Given the description of an element on the screen output the (x, y) to click on. 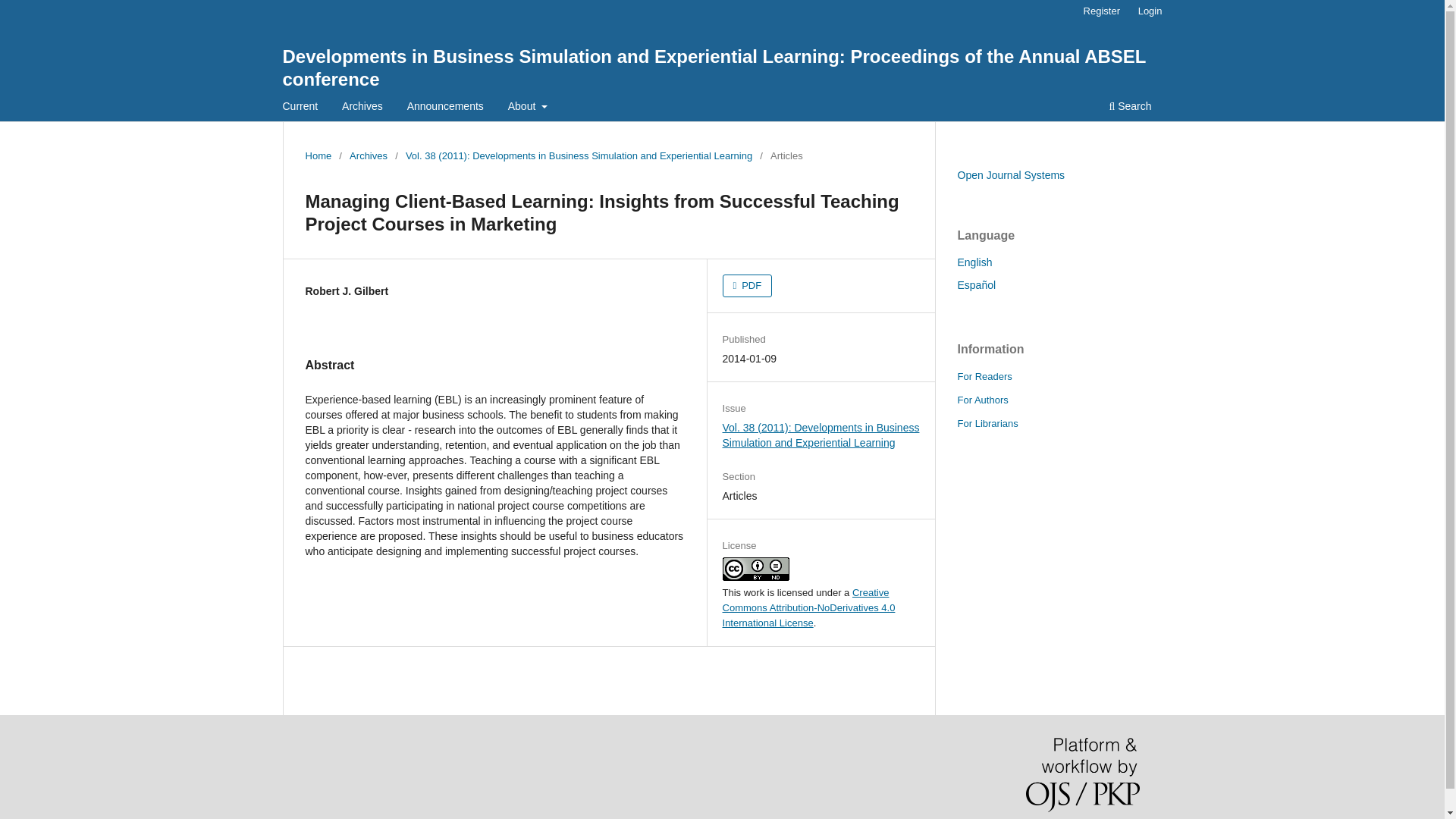
For Readers (983, 376)
English (973, 262)
Current (300, 108)
Search (1129, 108)
For Librarians (986, 423)
Register (1100, 11)
About (527, 108)
Archives (368, 155)
Home (317, 155)
Announcements (445, 108)
